Given the description of an element on the screen output the (x, y) to click on. 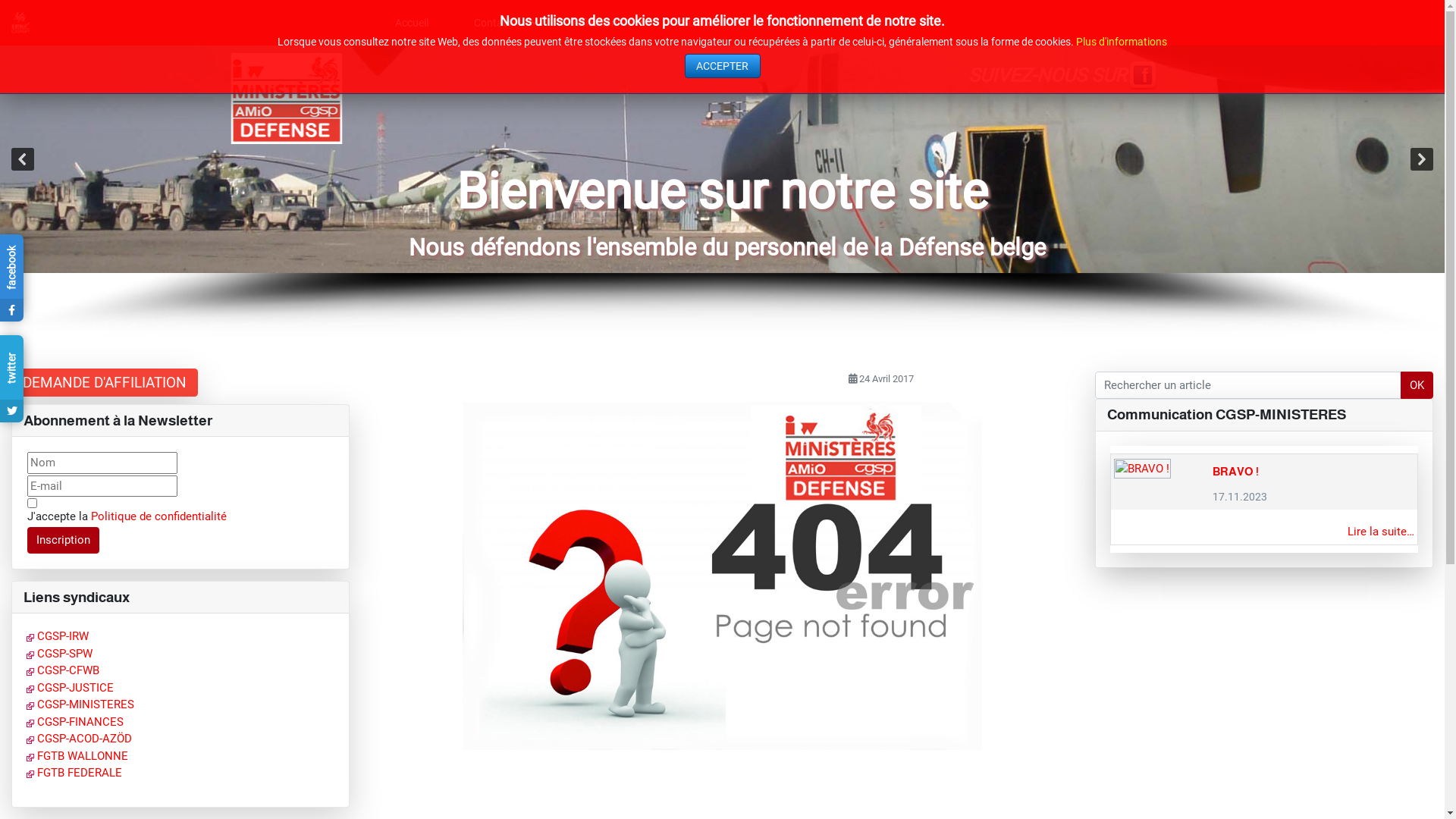
 CGSP-SPW Element type: text (59, 653)
Accueil Element type: text (411, 22)
OK Element type: text (1416, 384)
Inscription Element type: text (63, 540)
SUIVEZ-NOUS SUR Element type: text (1046, 75)
 CGSP-CFWB Element type: text (62, 670)
Contact Element type: text (500, 22)
DEMANDE D'AFFILIATION Element type: text (104, 382)
 CGSP-IRW Element type: text (57, 636)
 CGSP-JUSTICE Element type: text (69, 687)
 CGSP-MINISTERES Element type: text (80, 704)
 CGSP-FINANCES Element type: text (74, 721)
 FGTB WALLONNE Element type: text (77, 755)
BRAVO ! Element type: text (1235, 471)
 FGTB FEDERALE Element type: text (74, 772)
Affiliation Element type: text (602, 22)
Archives Element type: text (705, 22)
Plus d'informations Element type: text (1121, 41)
Login Element type: text (799, 22)
Termes et conditions Element type: hover (32, 503)
